Given the description of an element on the screen output the (x, y) to click on. 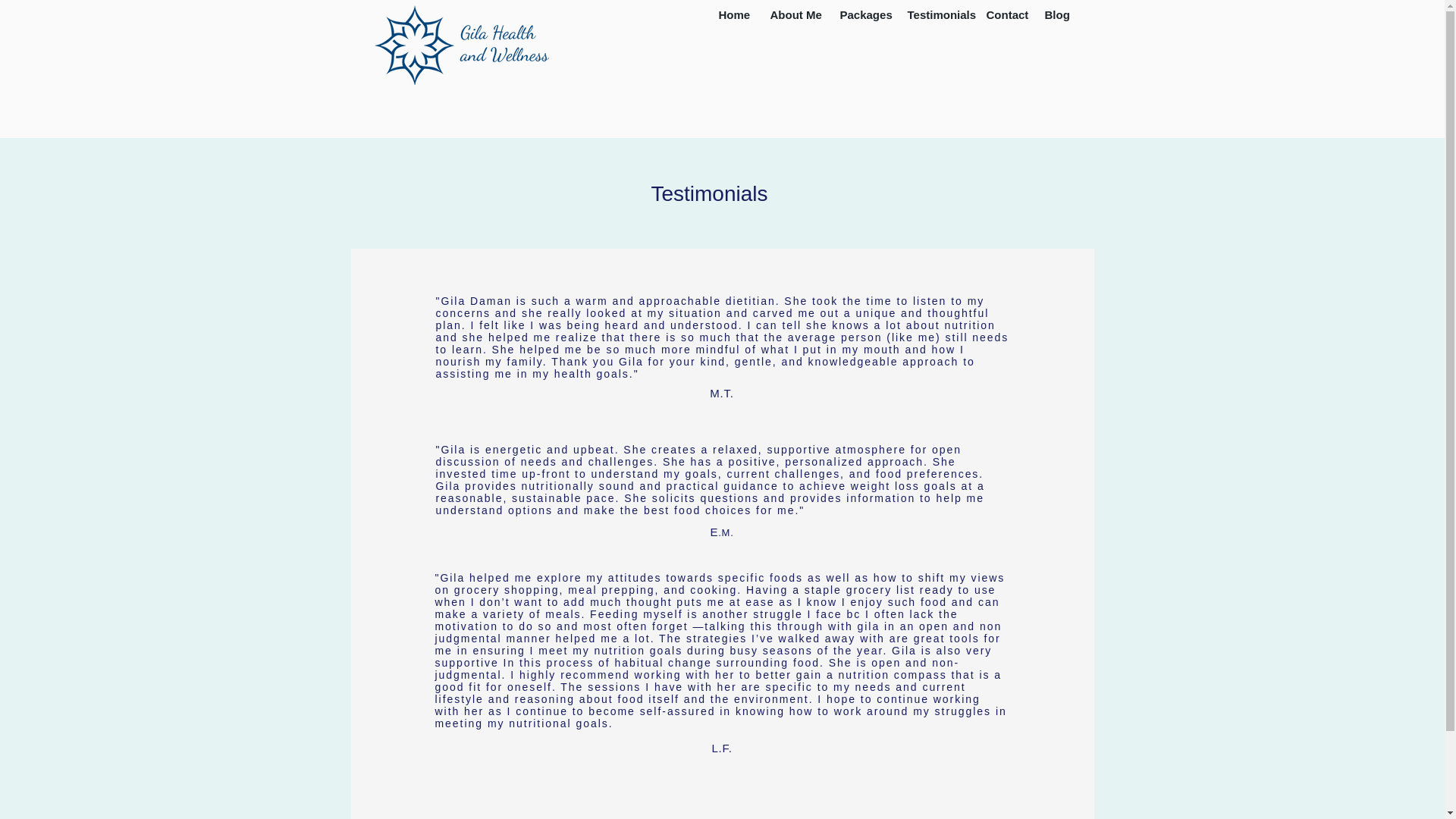
About Me (793, 14)
Contact (1004, 14)
Home (732, 14)
Testimonials (935, 14)
Packages (861, 14)
Blog (1054, 14)
